Given the description of an element on the screen output the (x, y) to click on. 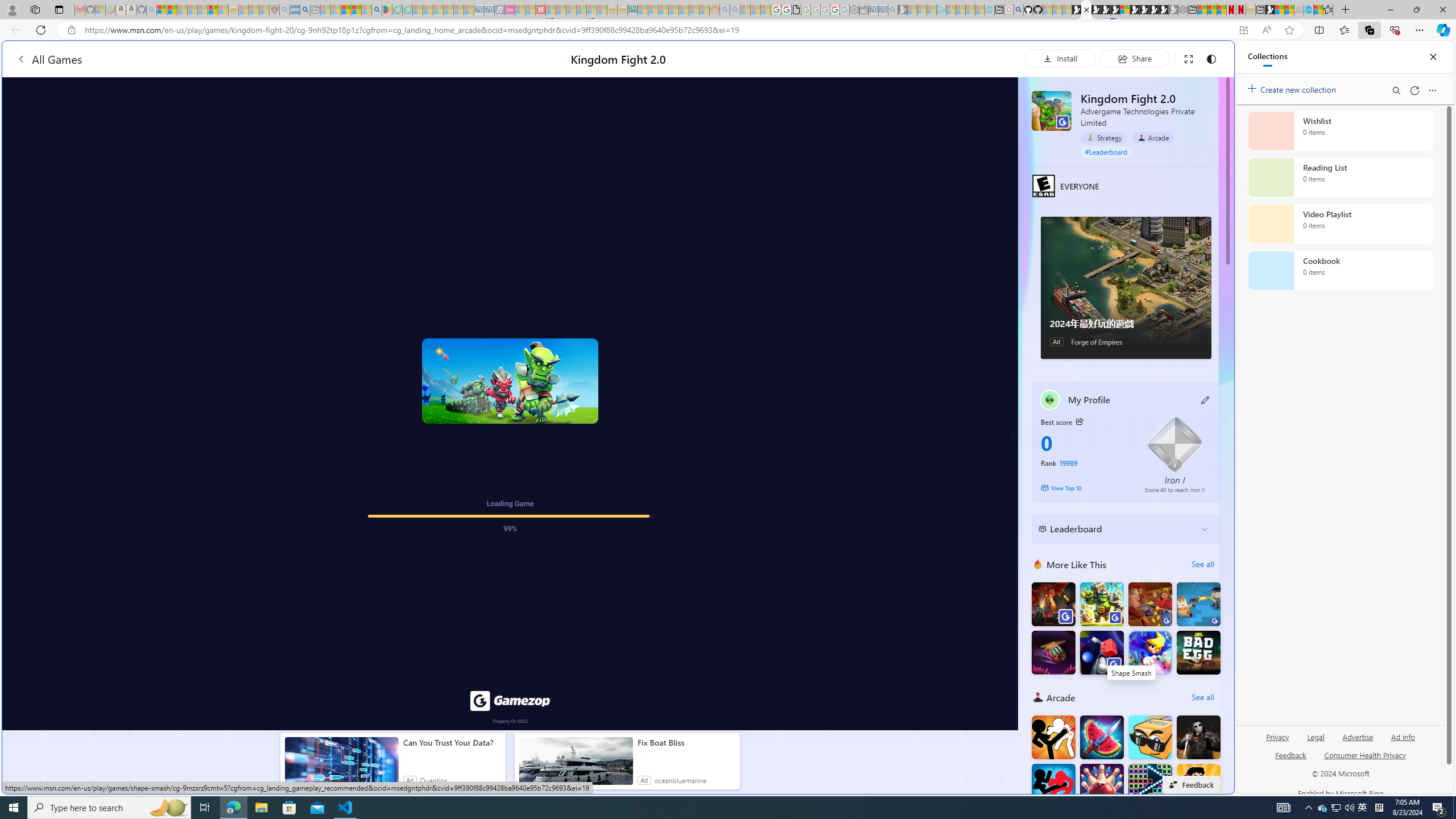
Services - Maintenance | Sky Blue Bikes - Sky Blue Bikes (1307, 9)
Class: control (1011, 434)
Create new collection (1293, 87)
github - Search (1018, 9)
utah sues federal government - Search (304, 9)
#Leaderboard (1106, 151)
